Given the description of an element on the screen output the (x, y) to click on. 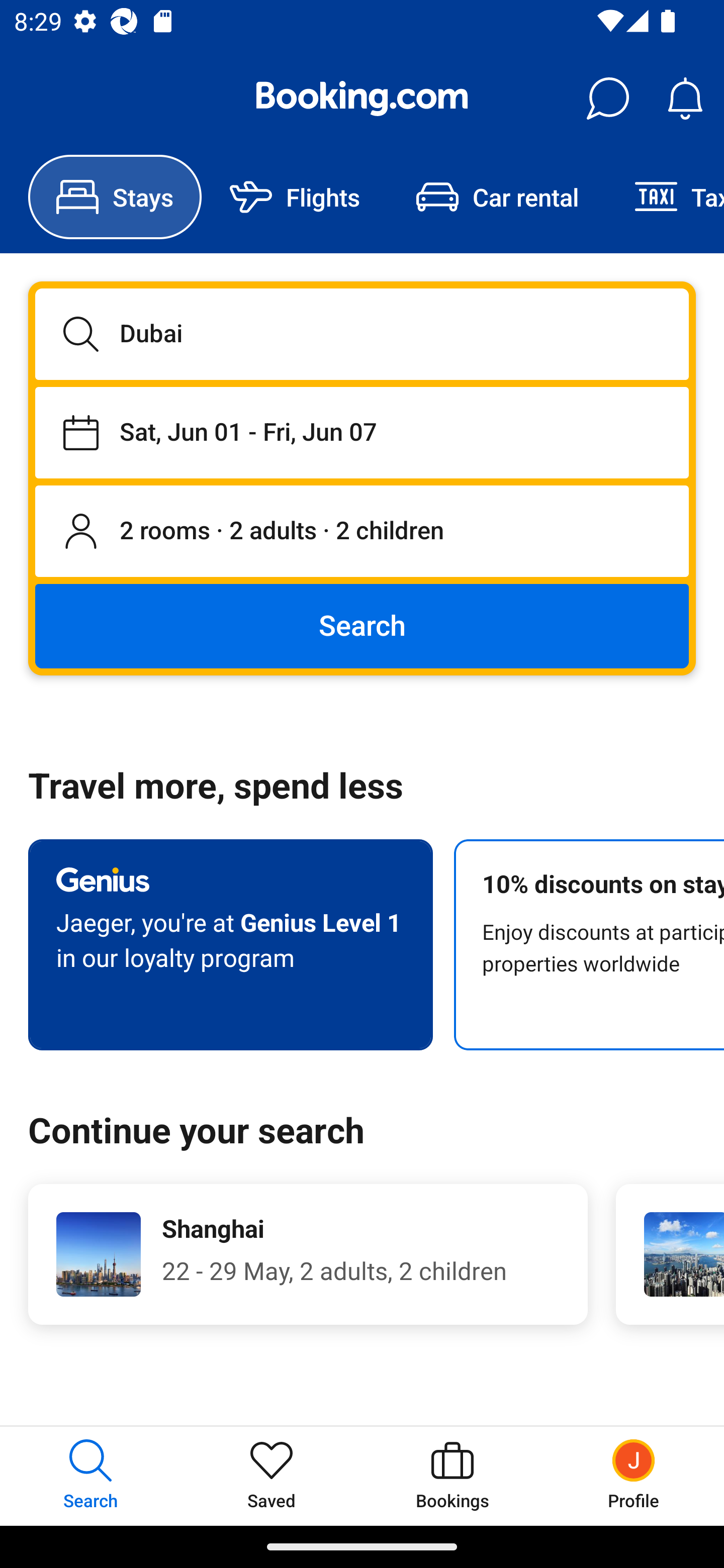
Messages (607, 98)
Notifications (685, 98)
Stays (114, 197)
Flights (294, 197)
Car rental (497, 197)
Taxi (665, 197)
Dubai (361, 333)
Staying from Sat, Jun 01 until Fri, Jun 07 (361, 432)
2 rooms, 2 adults, 2 children (361, 531)
Search (361, 625)
Shanghai 22 - 29 May, 2 adults, 2 children (307, 1253)
Saved (271, 1475)
Bookings (452, 1475)
Profile (633, 1475)
